Given the description of an element on the screen output the (x, y) to click on. 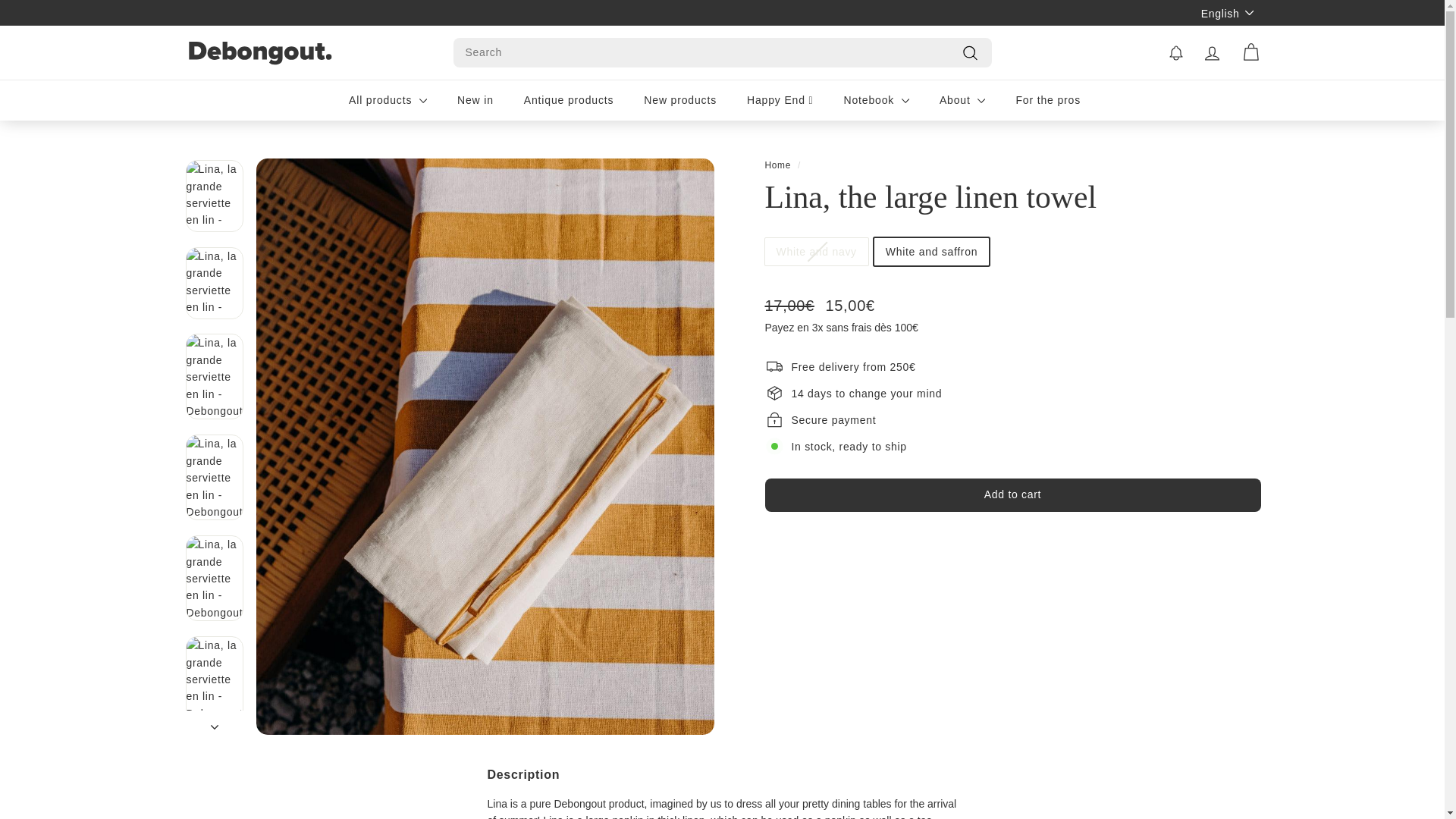
English (1230, 12)
Back to the frontpage (777, 164)
icon-chevron (214, 726)
